Given the description of an element on the screen output the (x, y) to click on. 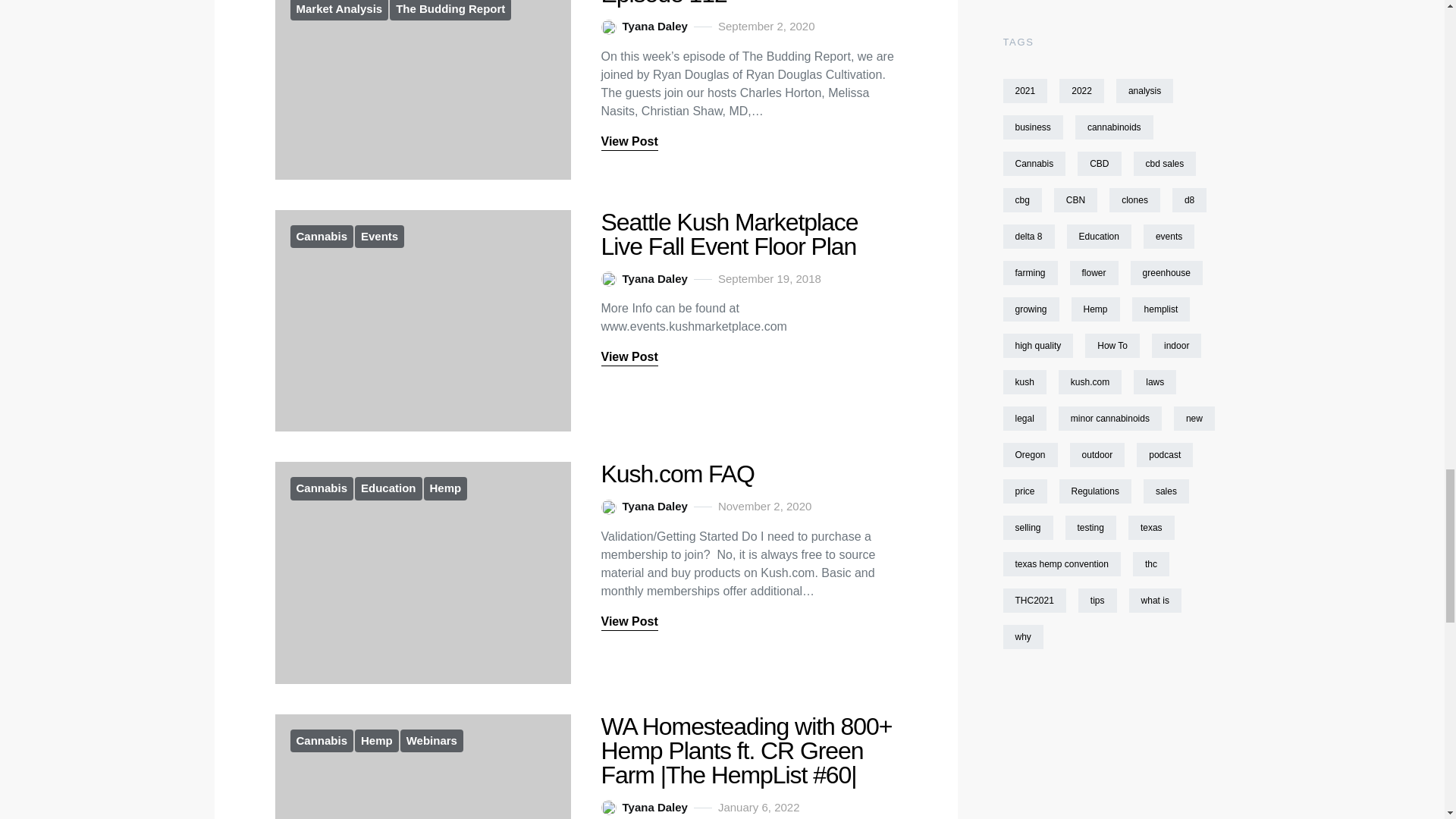
View all posts by Tyana Daley (643, 807)
View all posts by Tyana Daley (643, 27)
View all posts by Tyana Daley (643, 279)
View all posts by Tyana Daley (643, 506)
